Given the description of an element on the screen output the (x, y) to click on. 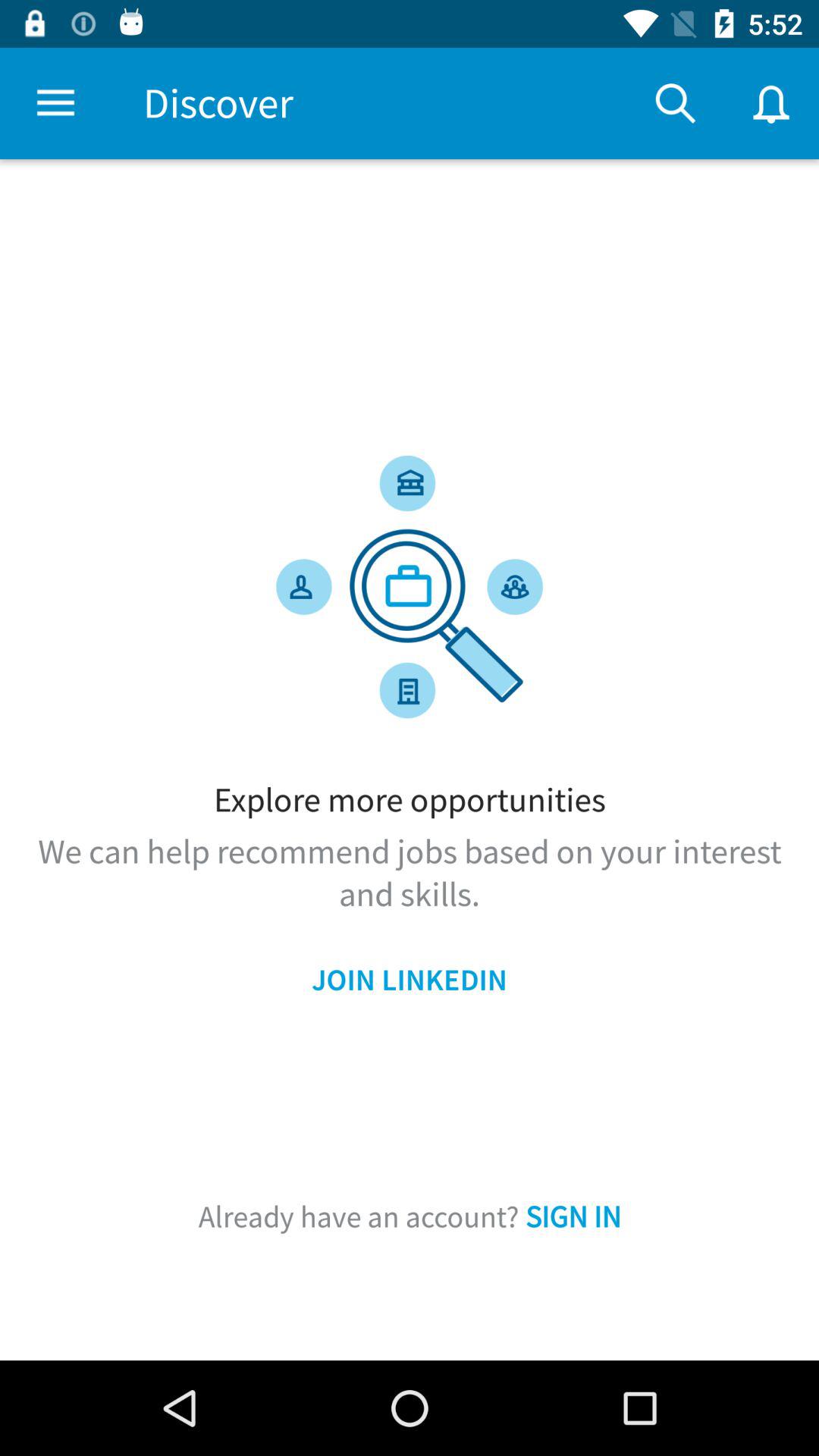
launch item above explore more opportunities item (675, 103)
